Given the description of an element on the screen output the (x, y) to click on. 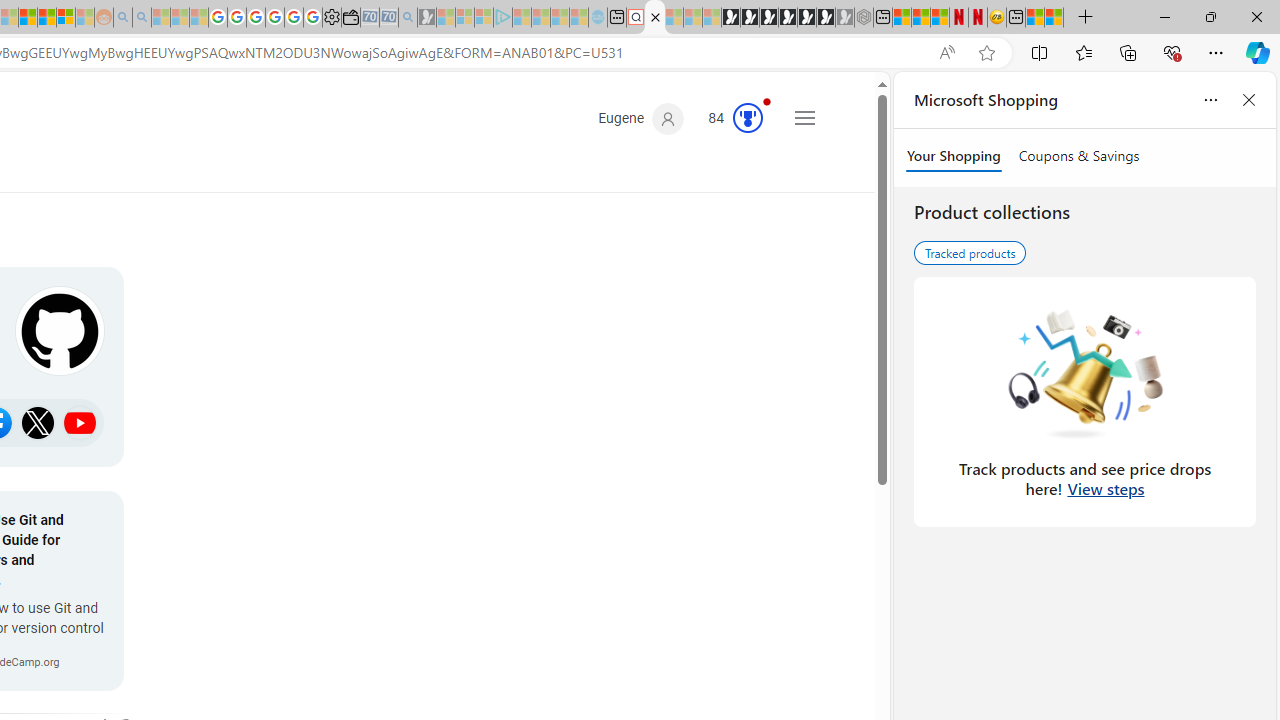
Microsoft Rewards 84 (728, 119)
AutomationID: serp_medal_svg (748, 117)
Utah sues federal government - Search - Sleeping (142, 17)
Eugene (640, 119)
Bing Real Estate - Home sales and rental listings - Sleeping (408, 17)
Wallet (350, 17)
